Given the description of an element on the screen output the (x, y) to click on. 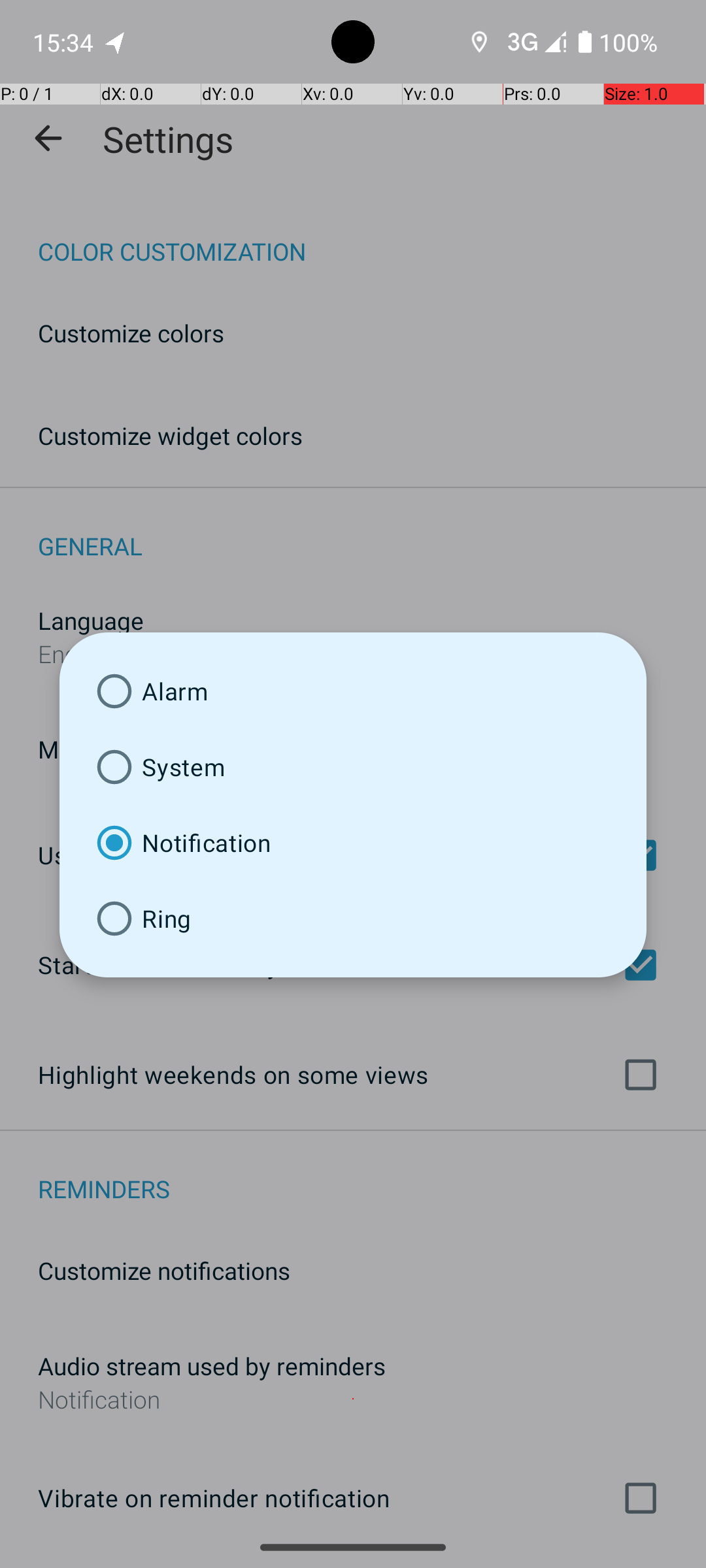
System Element type: android.widget.RadioButton (352, 766)
Ring Element type: android.widget.RadioButton (352, 918)
